Given the description of an element on the screen output the (x, y) to click on. 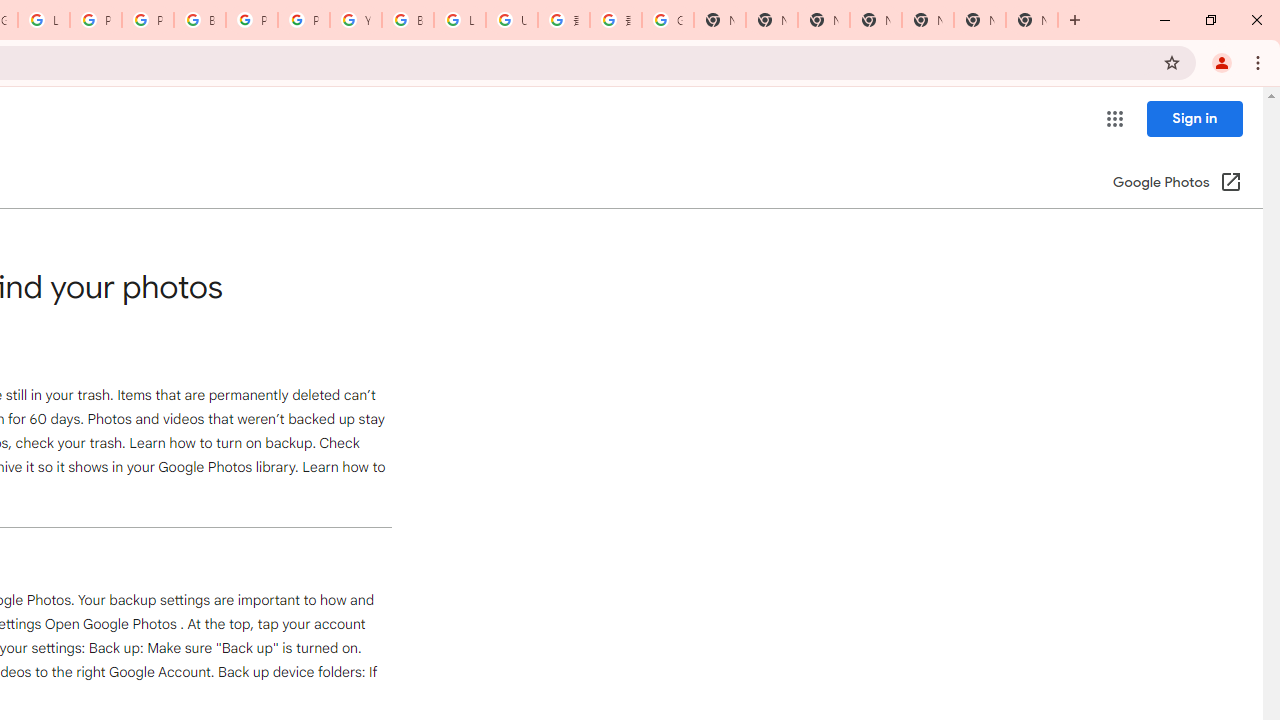
New Tab (875, 20)
Google Images (667, 20)
New Tab (1032, 20)
Google Photos (Open in a new window) (1177, 183)
Privacy Help Center - Policies Help (147, 20)
Privacy Help Center - Policies Help (95, 20)
